Given the description of an element on the screen output the (x, y) to click on. 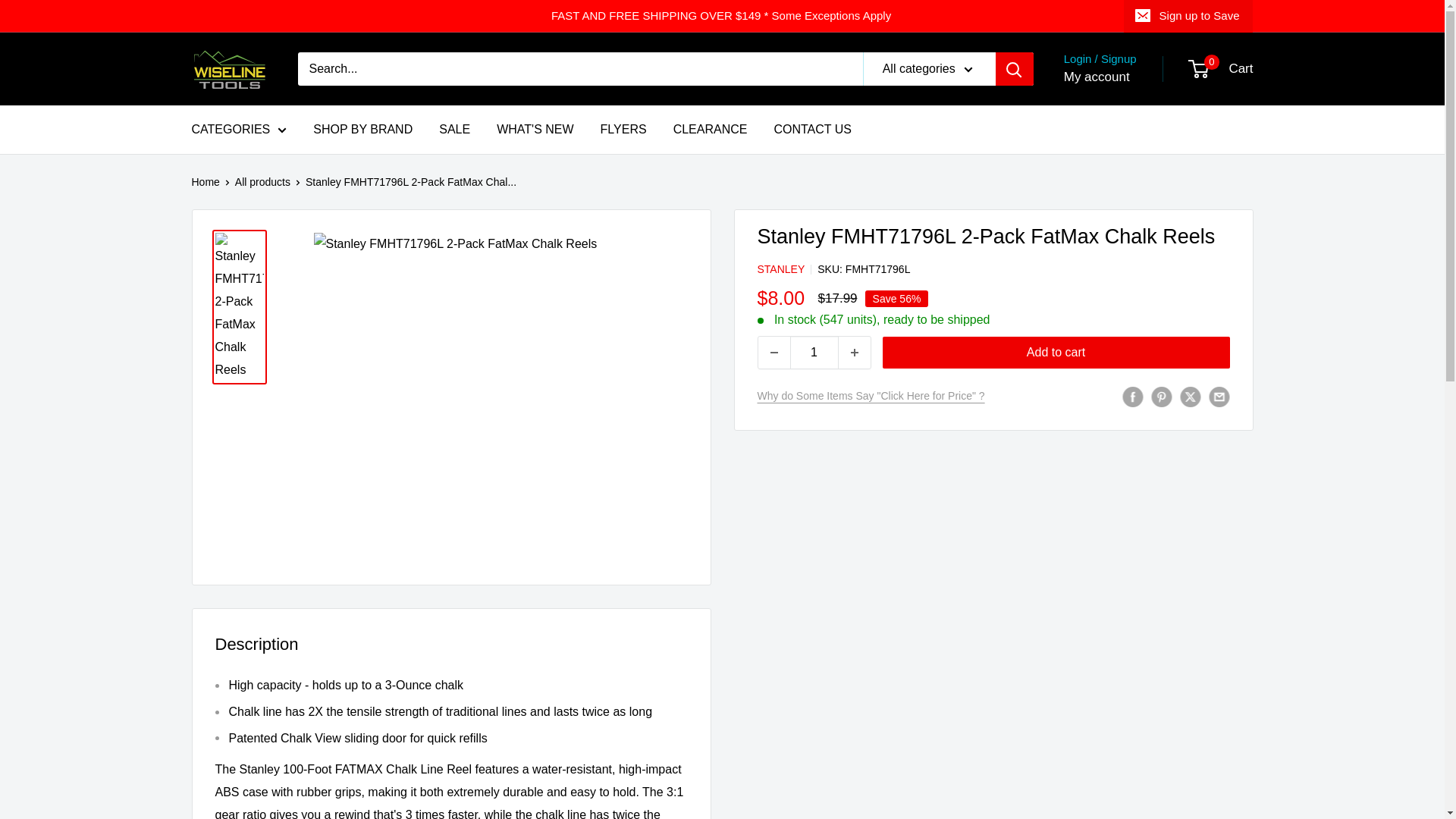
Decrease quantity by 1 (774, 352)
Increase quantity by 1 (854, 352)
Sign up to Save (1188, 15)
1 (814, 352)
